Given the description of an element on the screen output the (x, y) to click on. 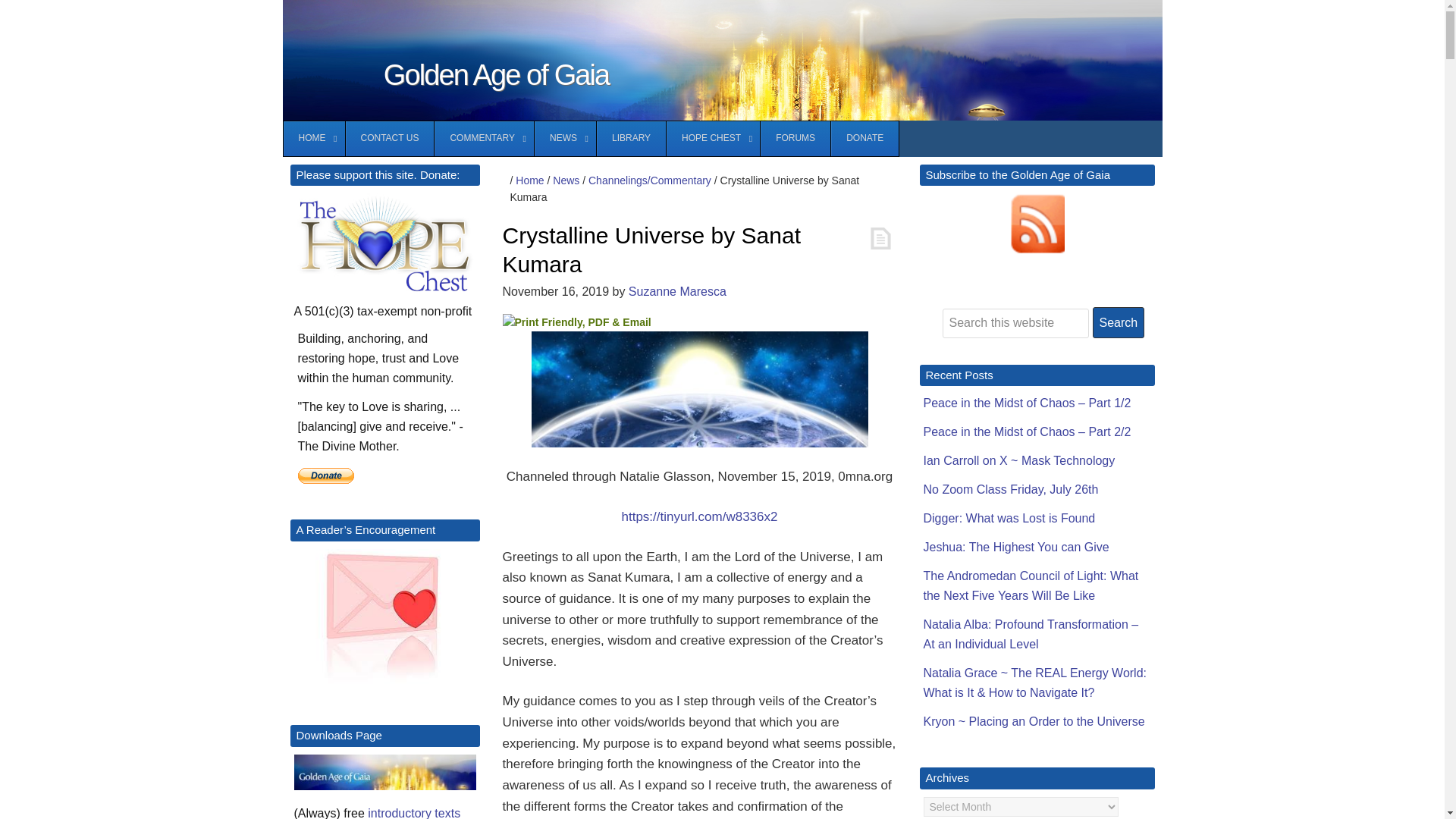
HOME (314, 138)
Search (1118, 322)
FORUMS (794, 138)
HOPE CHEST (712, 138)
DONATE (863, 138)
News (566, 180)
Golden Age of Gaia (496, 74)
CONTACT US (388, 138)
Home (529, 180)
COMMENTARY (483, 138)
LIBRARY (630, 138)
Search (1118, 322)
NEWS (564, 138)
